Given the description of an element on the screen output the (x, y) to click on. 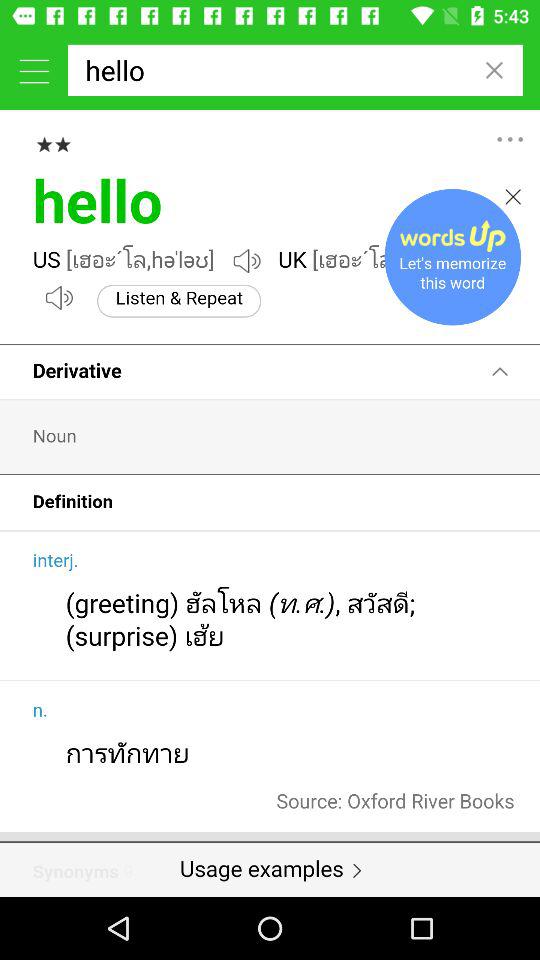
select the search bar at the top (295, 70)
select the 1st close icon in the top left corner (494, 70)
select the text below the interj (81, 594)
